Given the description of an element on the screen output the (x, y) to click on. 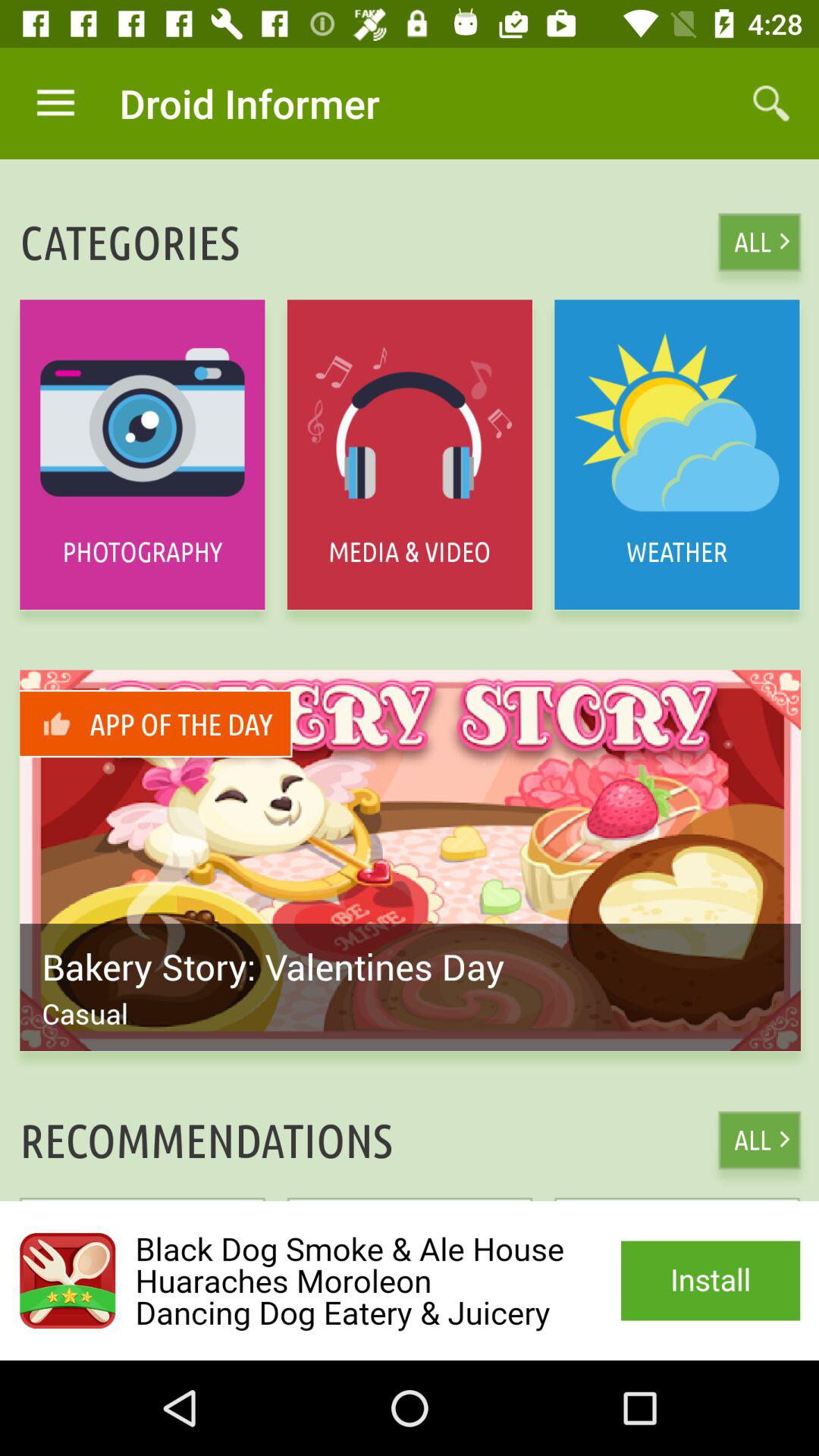
go to advertisement (409, 1280)
